Given the description of an element on the screen output the (x, y) to click on. 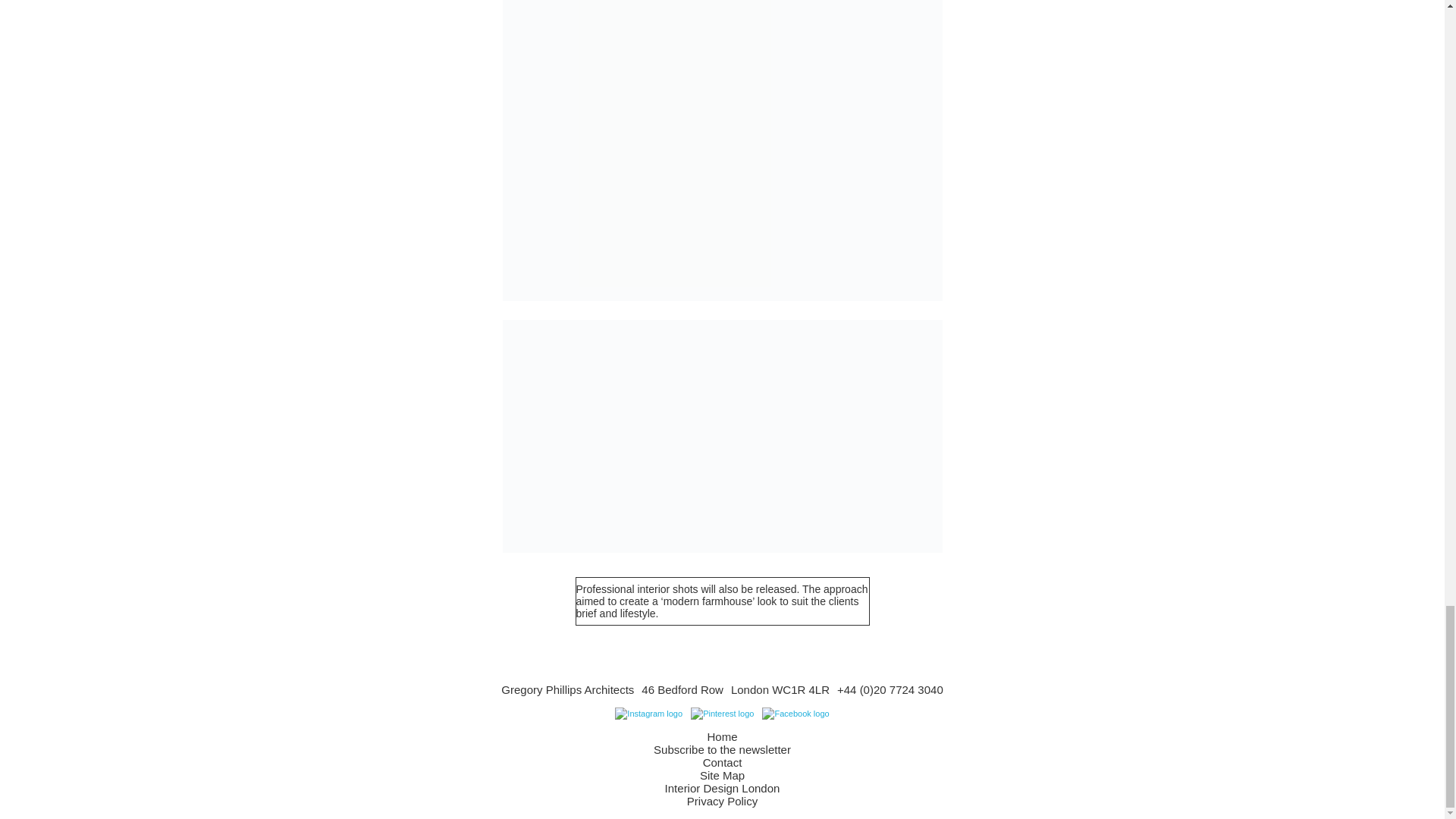
Privacy Policy (722, 800)
Interior Design London (722, 788)
Subscribe to the newsletter (721, 748)
Contact (722, 762)
Home (721, 736)
Site Map (722, 775)
